Given the description of an element on the screen output the (x, y) to click on. 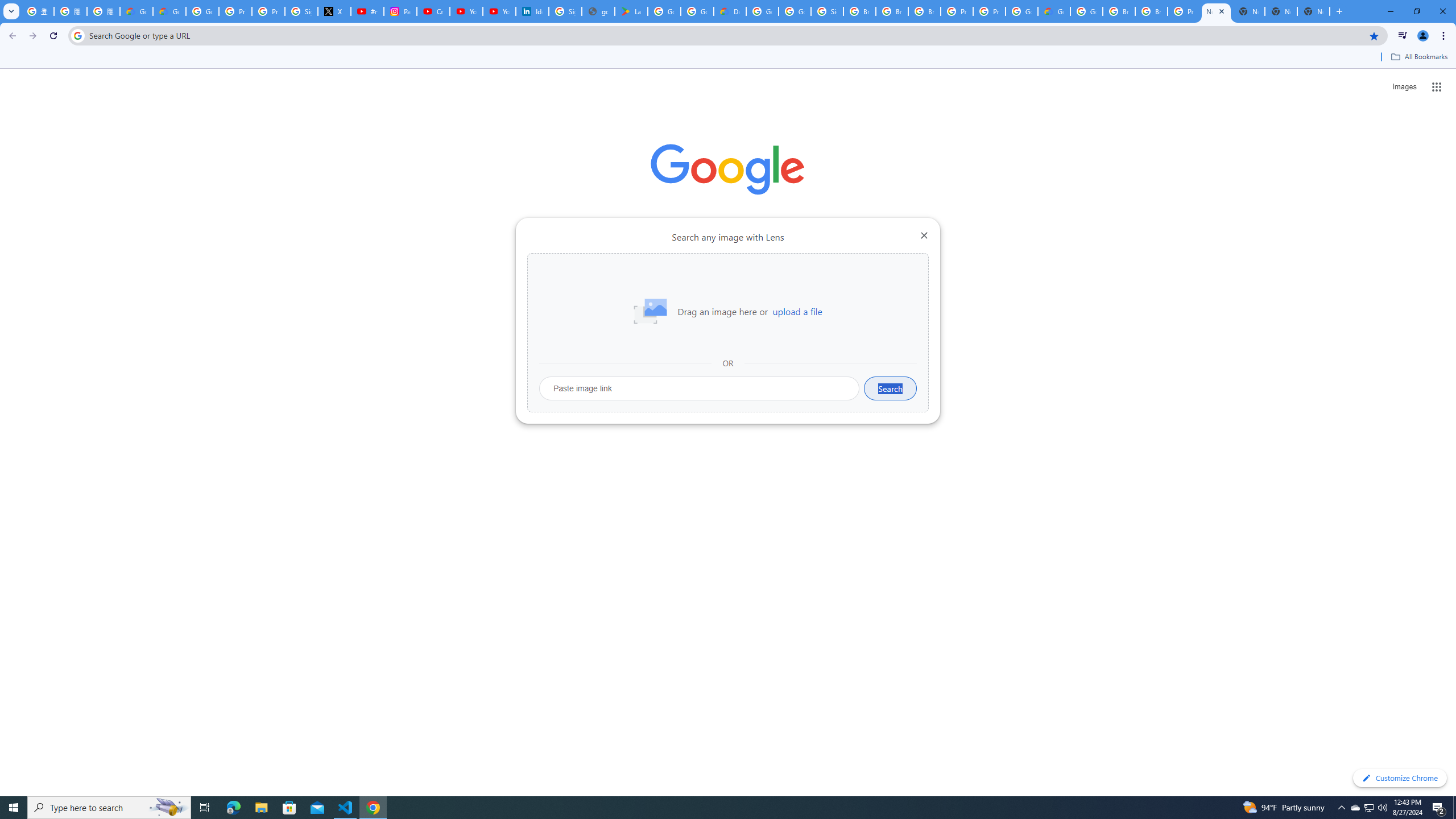
X (334, 11)
Google Cloud Privacy Notice (136, 11)
google_privacy_policy_en.pdf (598, 11)
Bookmarks (728, 58)
Google Cloud Platform (1086, 11)
Paste image link (699, 388)
Google Cloud Platform (762, 11)
Last Shelter: Survival - Apps on Google Play (631, 11)
Browse Chrome as a guest - Computer - Google Chrome Help (891, 11)
